Given the description of an element on the screen output the (x, y) to click on. 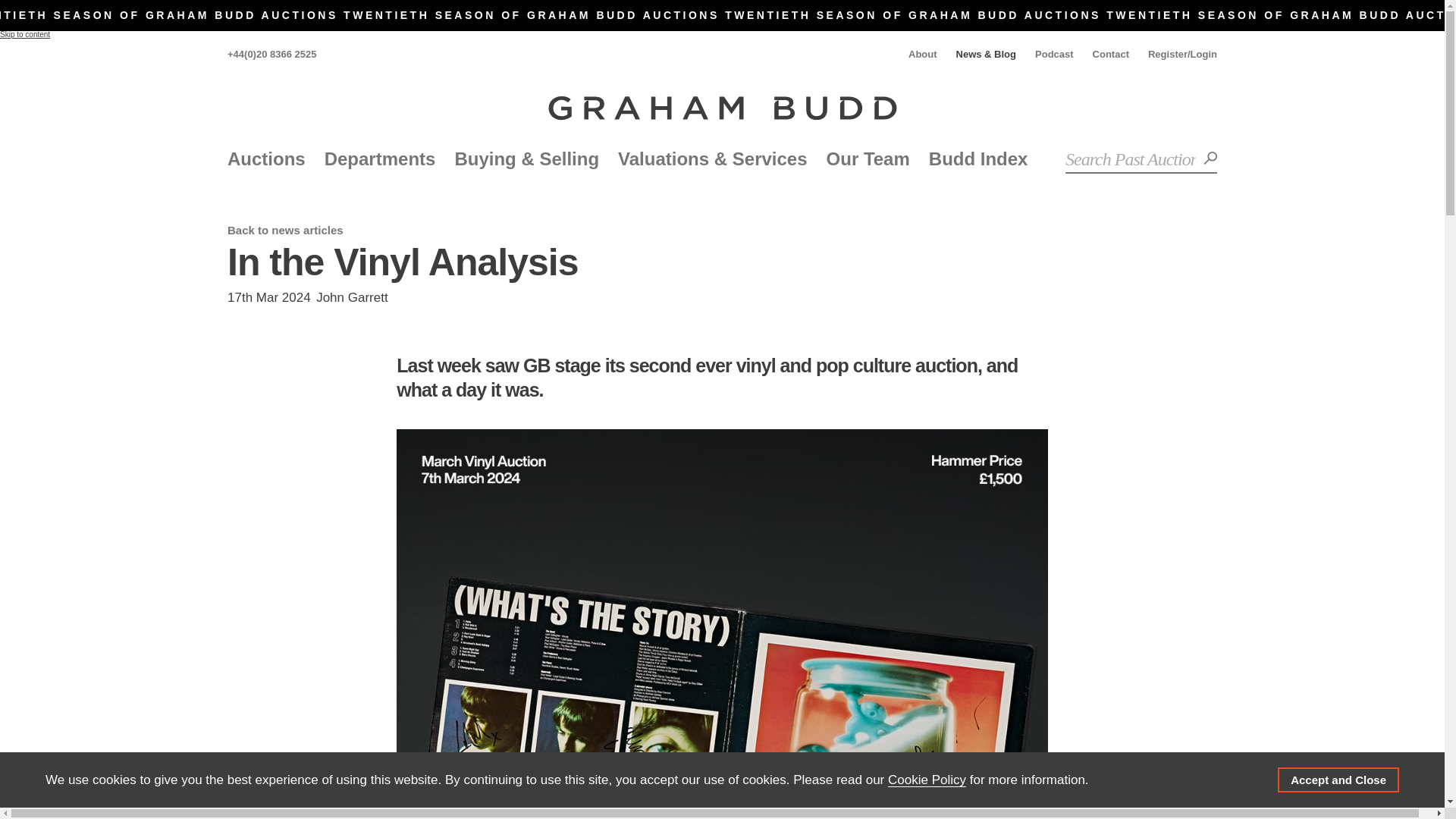
Our Team (868, 158)
Skip to content (24, 34)
Auctions (266, 158)
Podcast (1054, 53)
About (923, 53)
Departments (379, 158)
Contact (1110, 53)
